Given the description of an element on the screen output the (x, y) to click on. 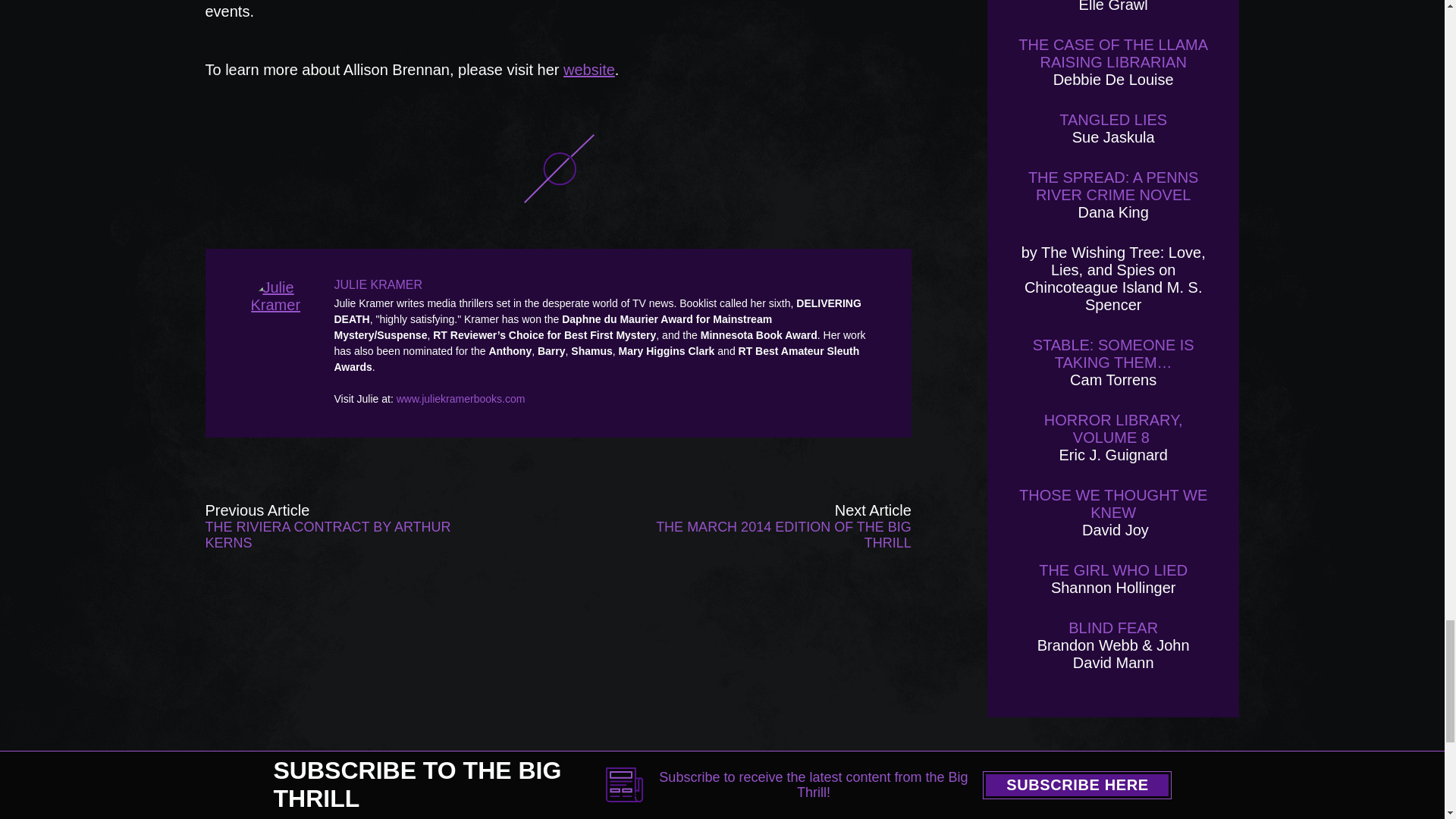
The Riviera Contract by Arthur Kerns (346, 526)
The March 2014 Edition of The Big Thrill (769, 526)
Julie Kramer (284, 309)
